Given the description of an element on the screen output the (x, y) to click on. 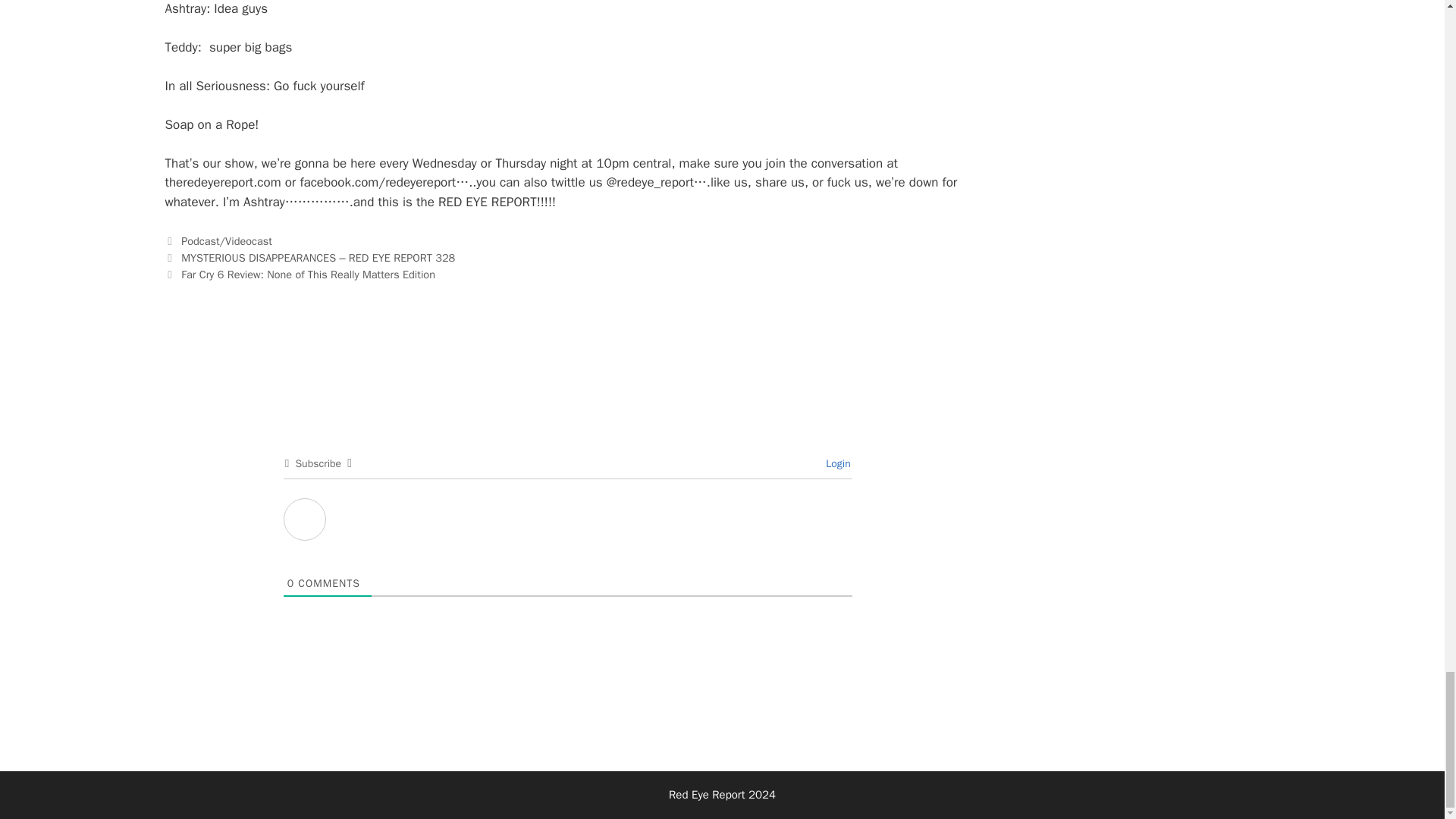
Far Cry 6 Review: None of This Really Matters Edition (307, 274)
Login (835, 463)
